Given the description of an element on the screen output the (x, y) to click on. 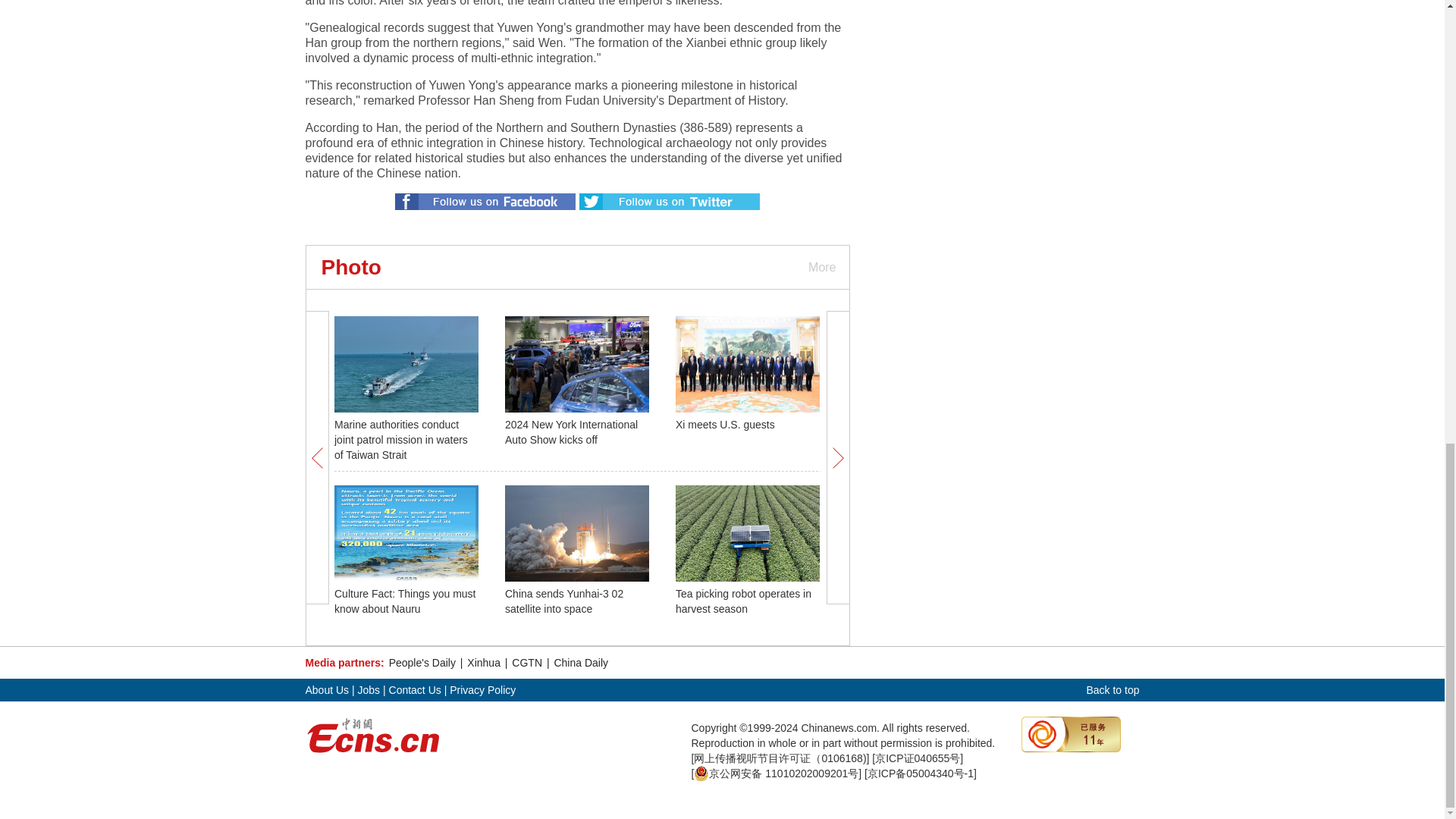
Tea picking robot operates in harvest season (742, 601)
Xi meets U.S. guests (724, 424)
2024 New York International Auto Show kicks off (571, 431)
China sends Yunhai-3 02 satellite into space (564, 601)
Culture Fact: Things you must know about Nauru (405, 601)
